Given the description of an element on the screen output the (x, y) to click on. 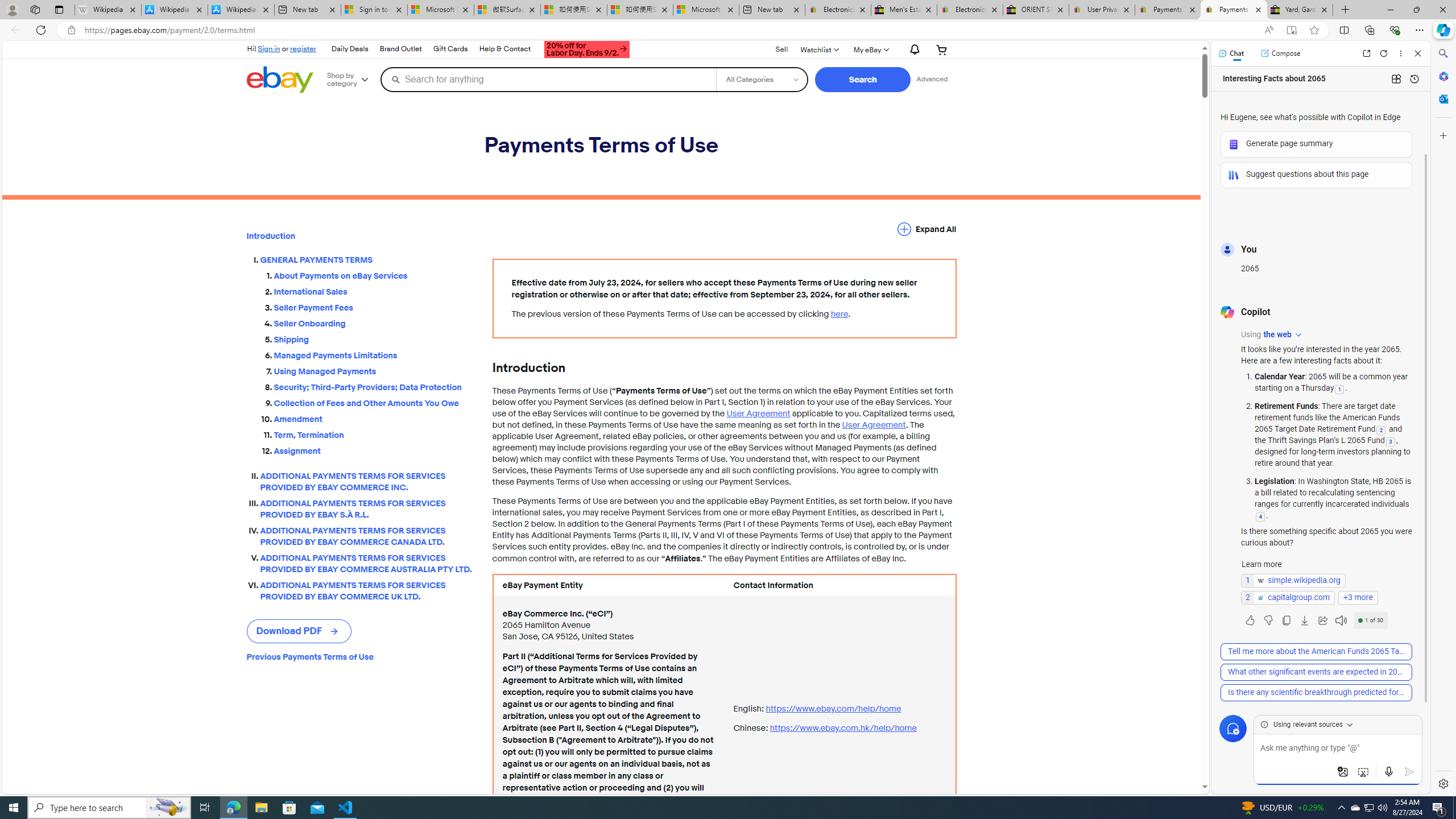
WatchlistExpand Watch List (818, 49)
Collection of Fees and Other Amounts You Owe (373, 401)
Assignment (373, 451)
https://www.ebay.com/ help/home (833, 708)
AutomationID: gh-eb-Alerts (912, 49)
here (838, 314)
Brand Outlet (401, 49)
Search for anything (547, 78)
International Sales (373, 289)
